Given the description of an element on the screen output the (x, y) to click on. 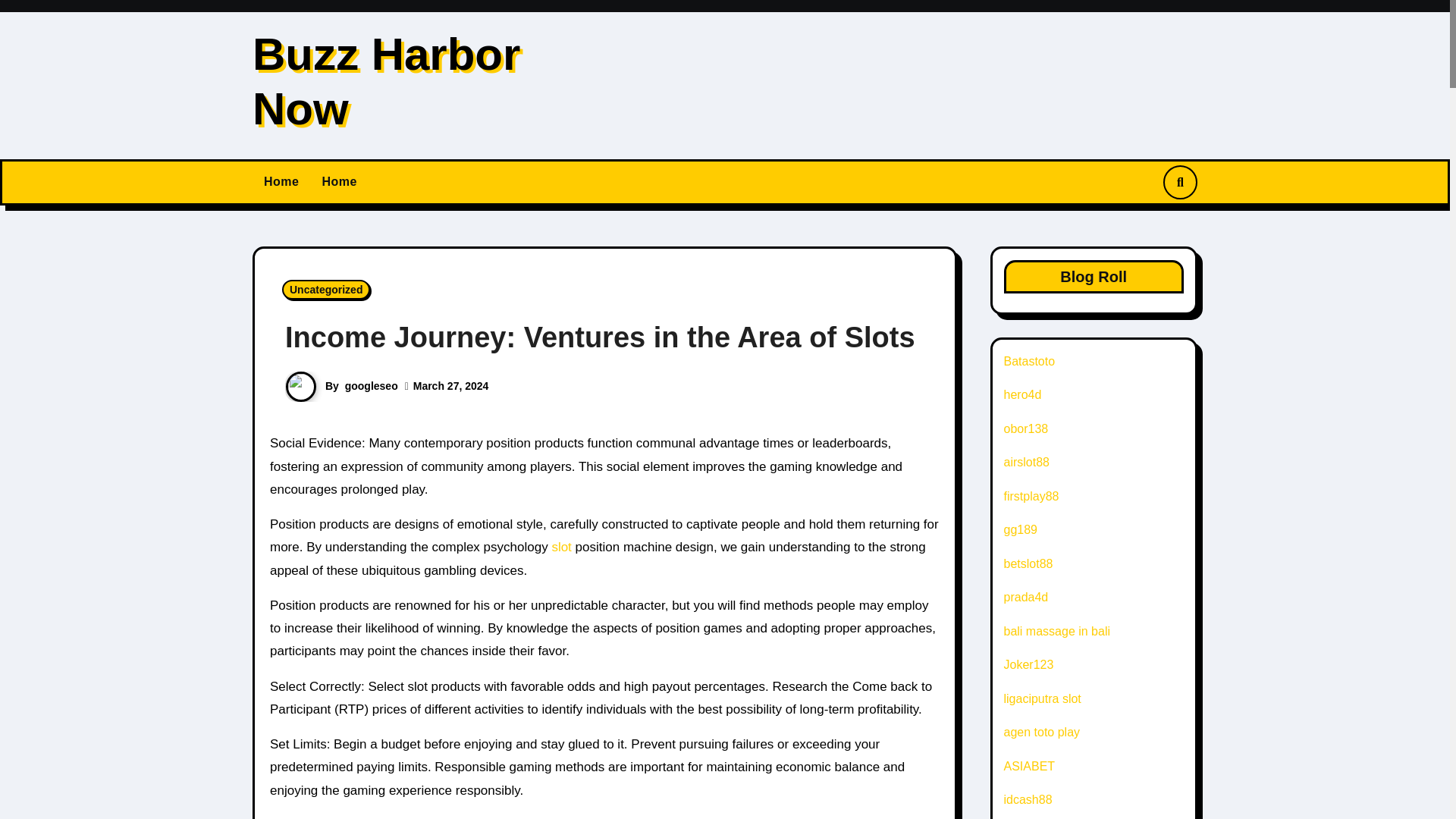
Buzz Harbor Now (385, 81)
Home (280, 182)
March 27, 2024 (451, 386)
Home (280, 182)
slot (563, 546)
googleseo (371, 386)
Home (339, 182)
Uncategorized (325, 289)
